Given the description of an element on the screen output the (x, y) to click on. 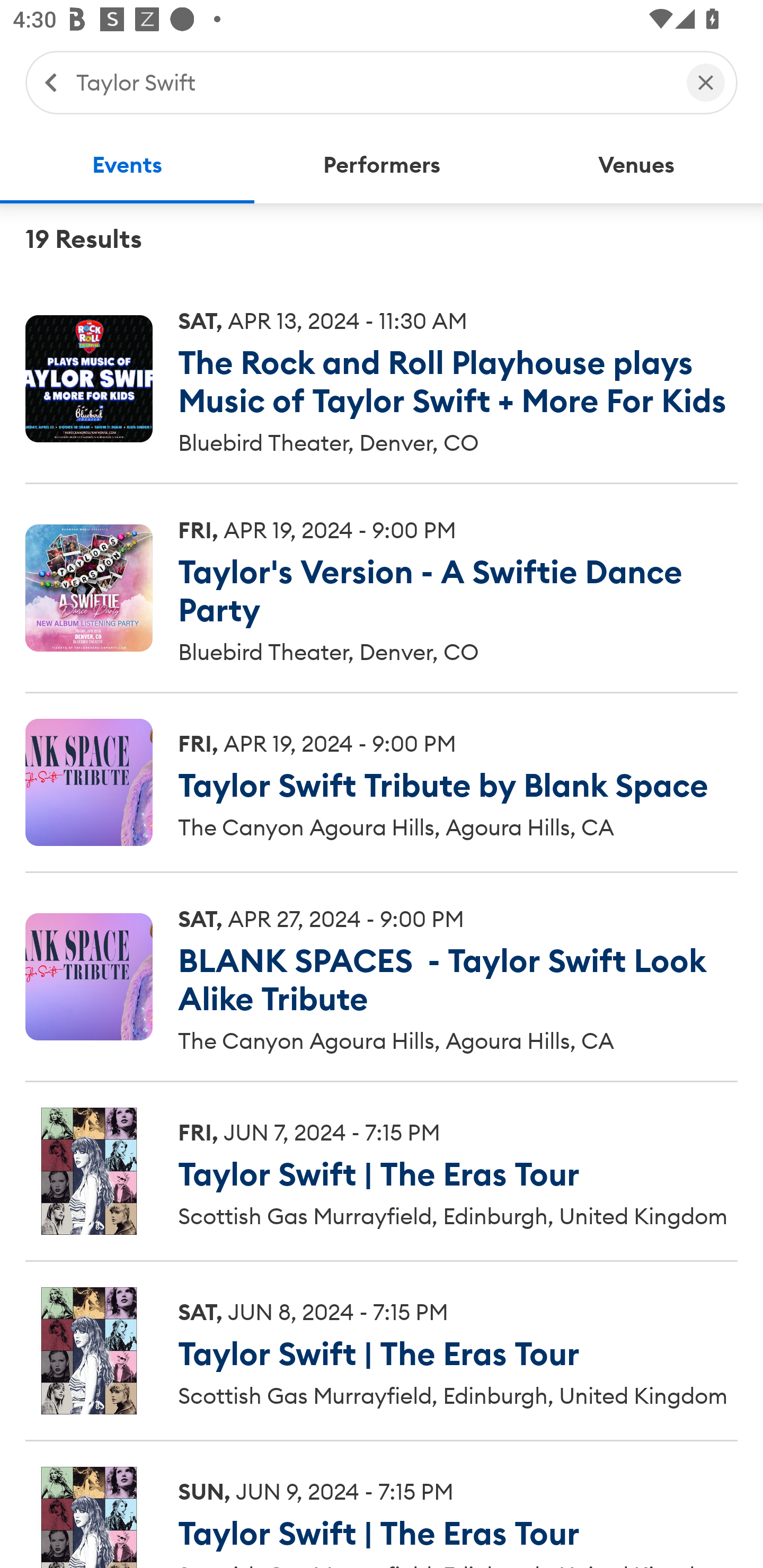
Taylor Swift (371, 81)
Clear Search (705, 81)
Performers (381, 165)
Venues (635, 165)
